Given the description of an element on the screen output the (x, y) to click on. 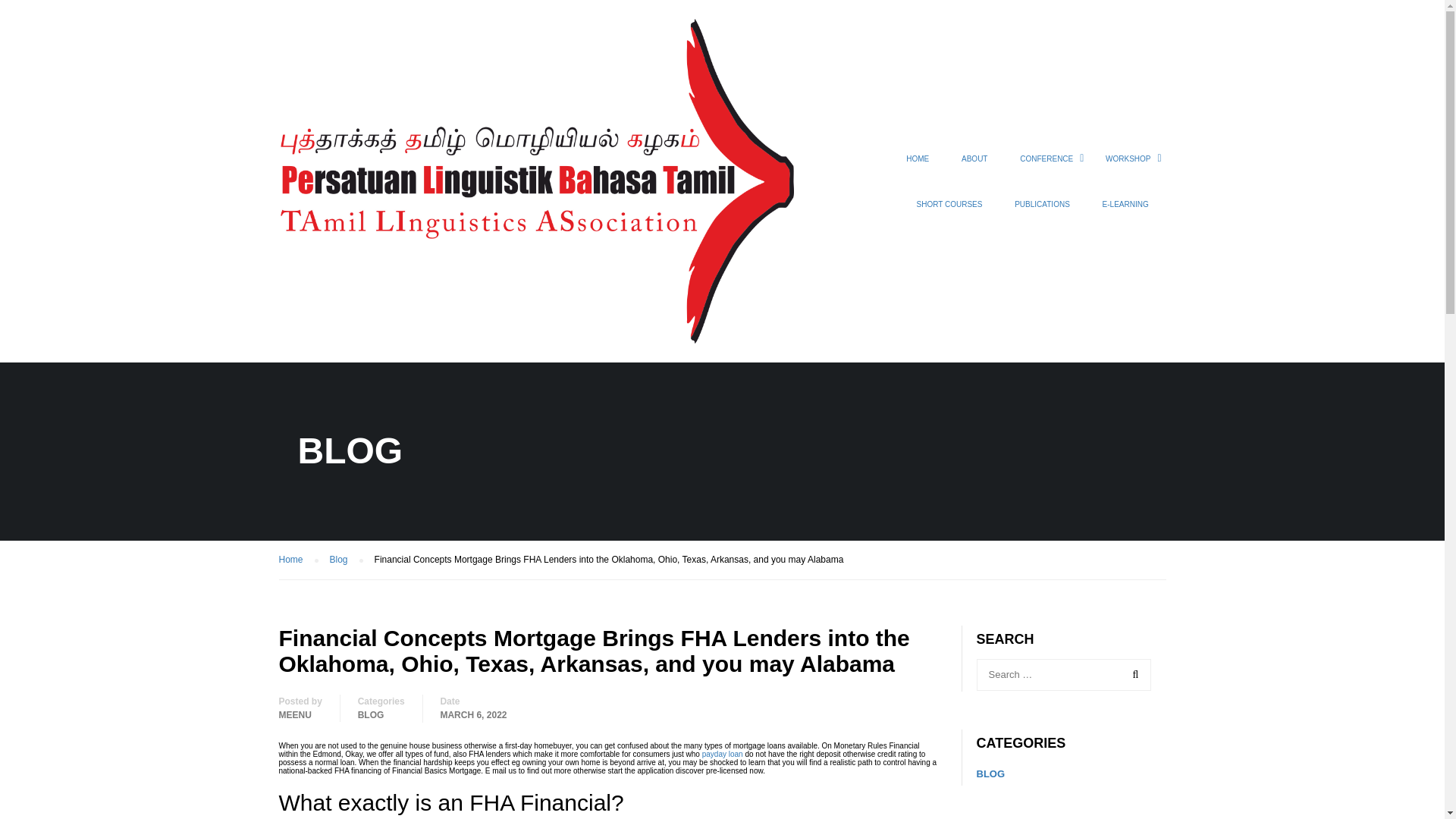
payday loan (721, 754)
Home (298, 559)
Home (298, 559)
HOME (917, 166)
Search (1132, 675)
PUBLICATIONS (1041, 211)
SHORT COURSES (949, 211)
BLOG (371, 714)
Blog (346, 559)
Blog (346, 559)
